Given the description of an element on the screen output the (x, y) to click on. 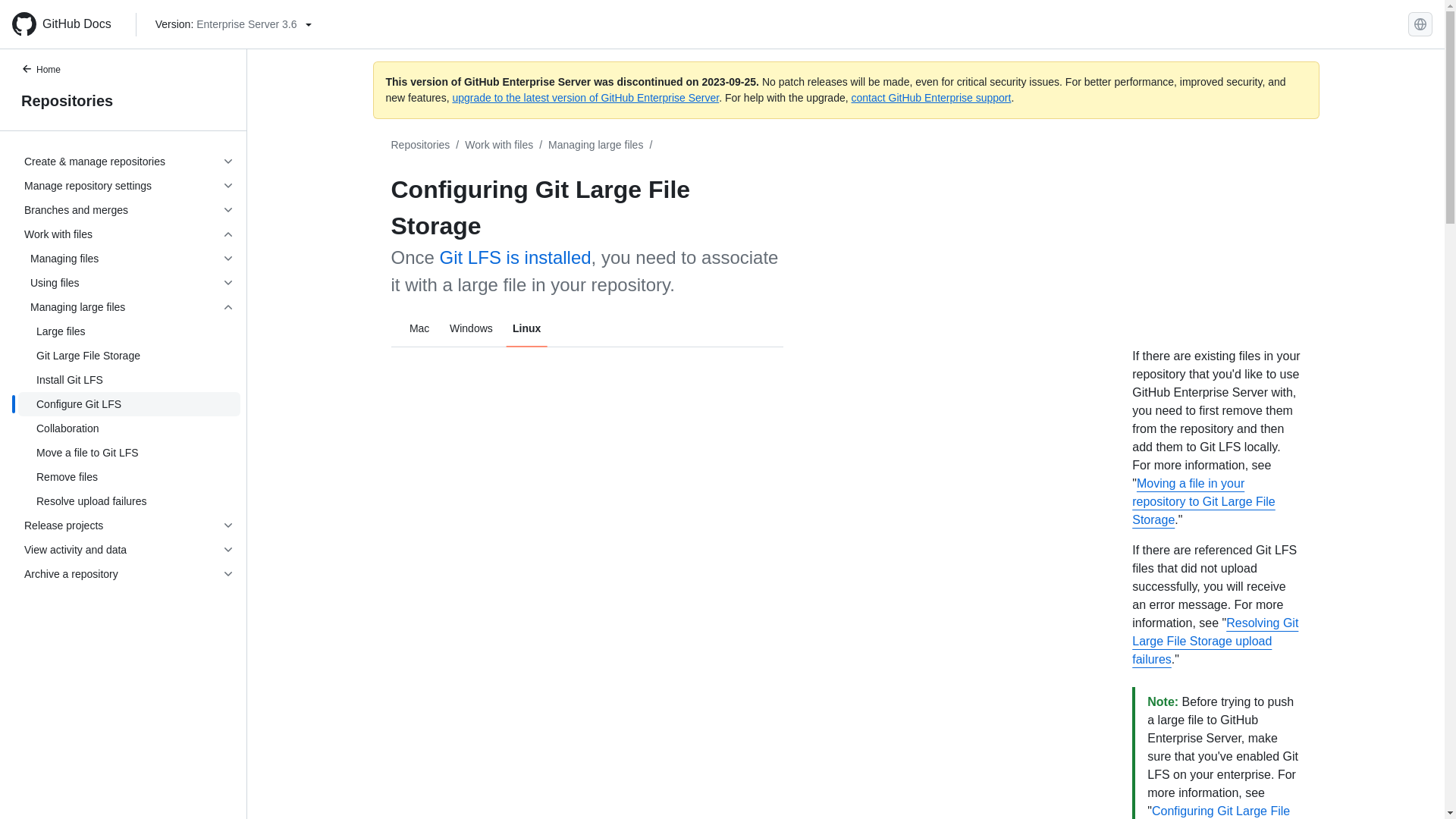
Version: Enterprise Server 3.6 (233, 24)
Repositories (122, 100)
Home (49, 70)
GitHub Docs (67, 24)
Manage repository settings (128, 185)
Repositories (420, 144)
Work with files (498, 144)
Managing large files (595, 144)
